Given the description of an element on the screen output the (x, y) to click on. 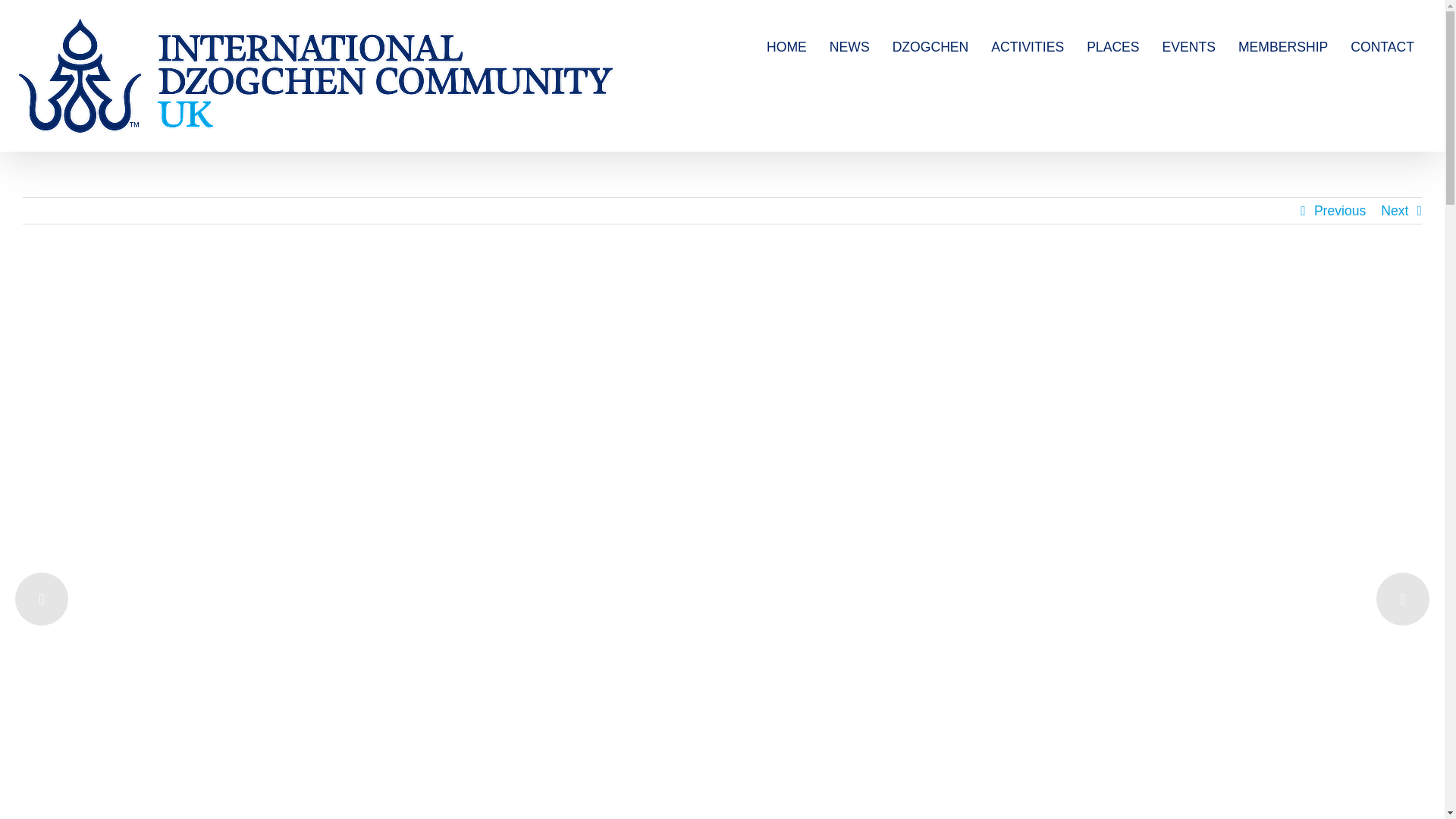
EVENTS (1188, 47)
DZOGCHEN (930, 47)
MEMBERSHIP (1283, 47)
ACTIVITIES (1027, 47)
PLACES (1112, 47)
